Given the description of an element on the screen output the (x, y) to click on. 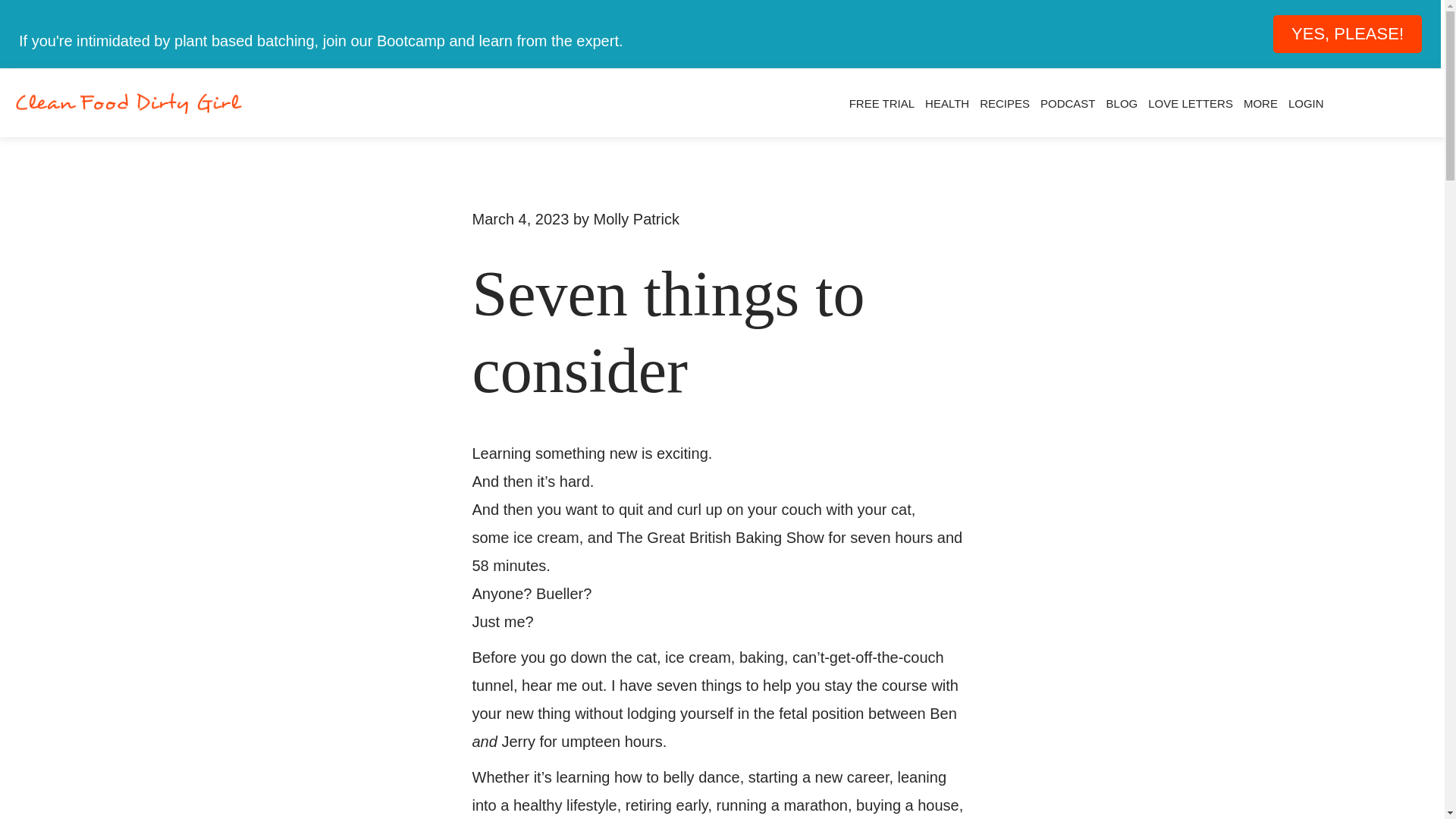
RECIPES (1004, 103)
LOVE LETTERS (1190, 103)
BLOG (1121, 103)
LOGIN (1305, 103)
PODCAST (1067, 103)
MORE (1260, 103)
FREE TRIAL (882, 103)
YES, PLEASE! (1347, 34)
HEALTH (947, 103)
